Given the description of an element on the screen output the (x, y) to click on. 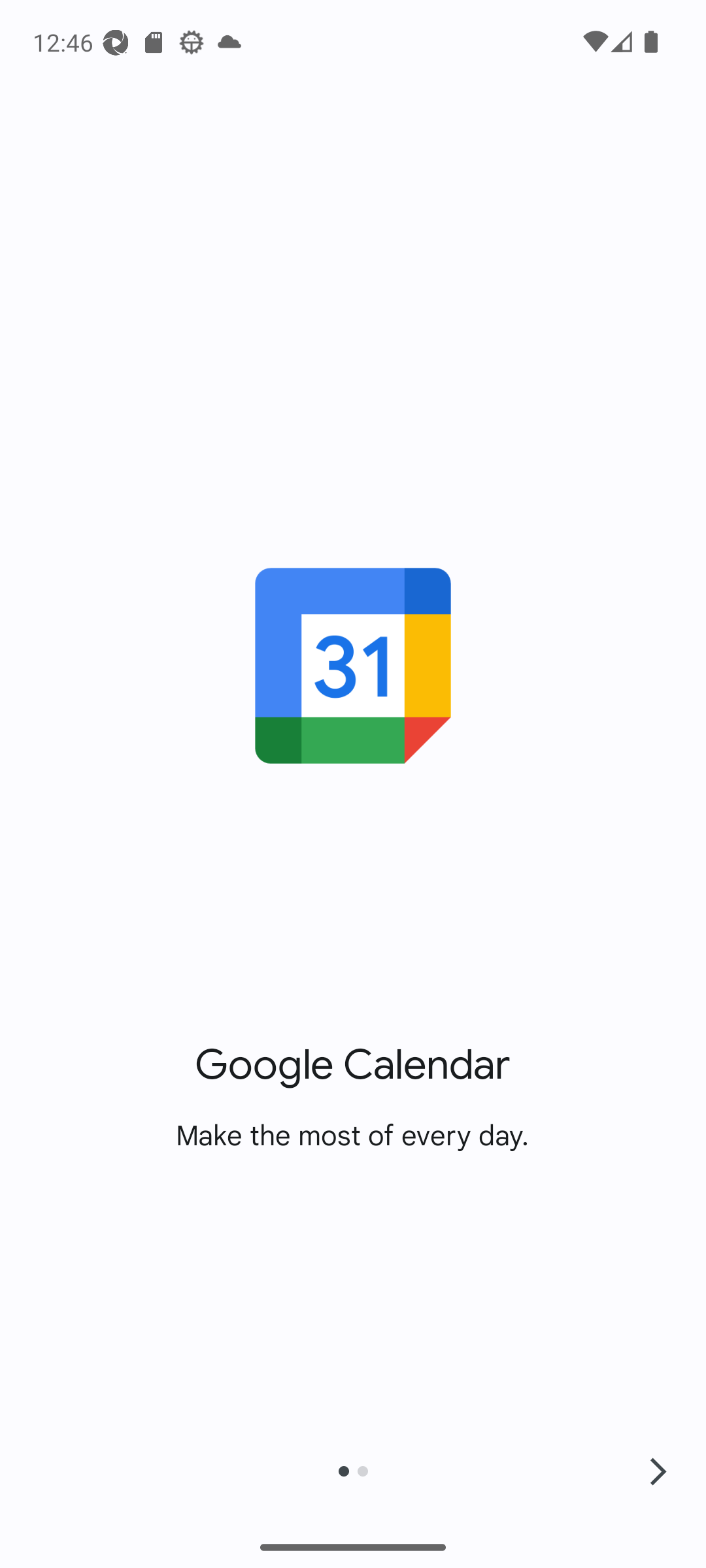
next page (657, 1471)
